Given the description of an element on the screen output the (x, y) to click on. 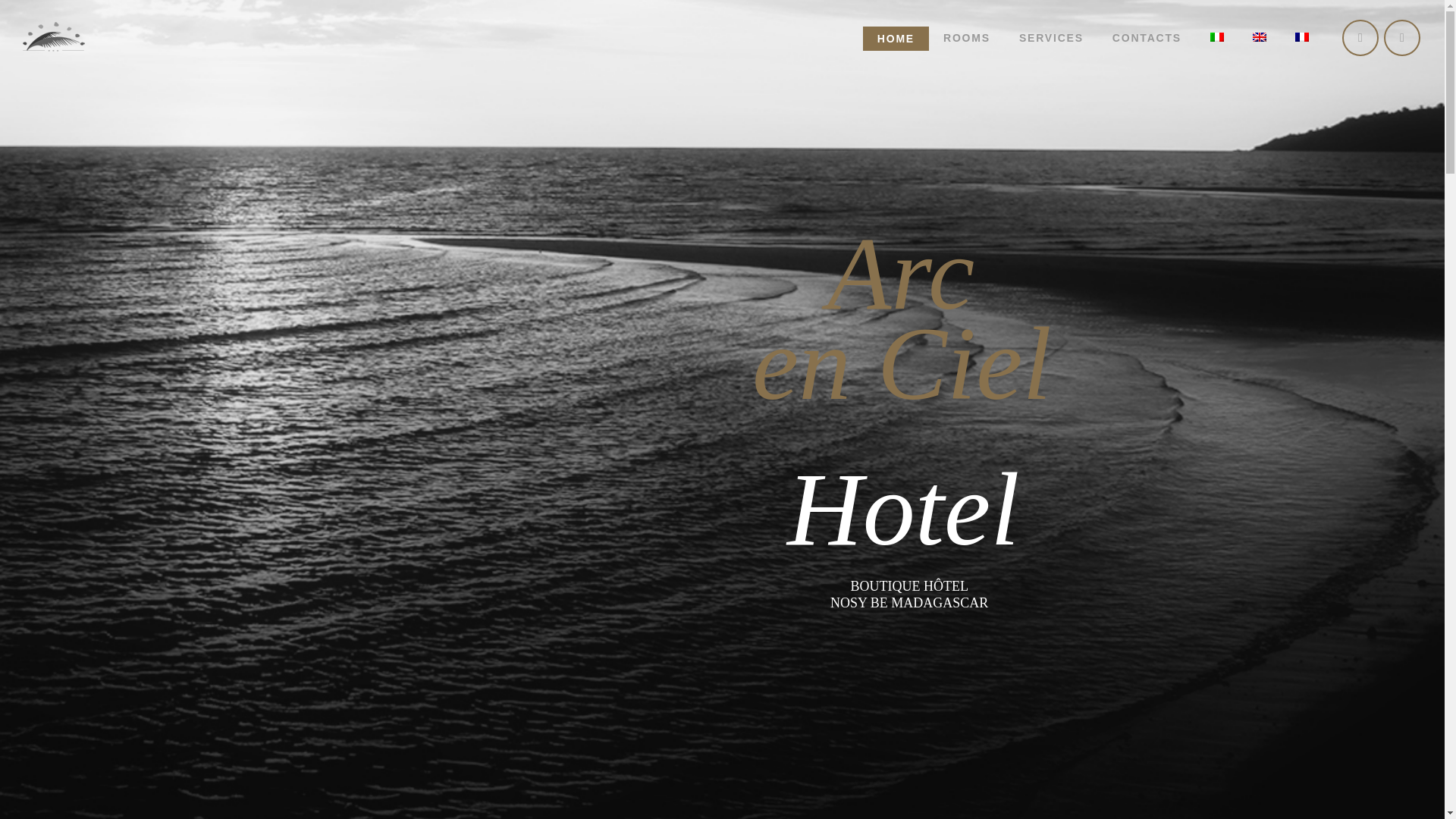
Italiano (1216, 36)
SERVICES (1050, 38)
ROOMS (966, 38)
CONTACTS (1146, 38)
English (1259, 36)
